Given the description of an element on the screen output the (x, y) to click on. 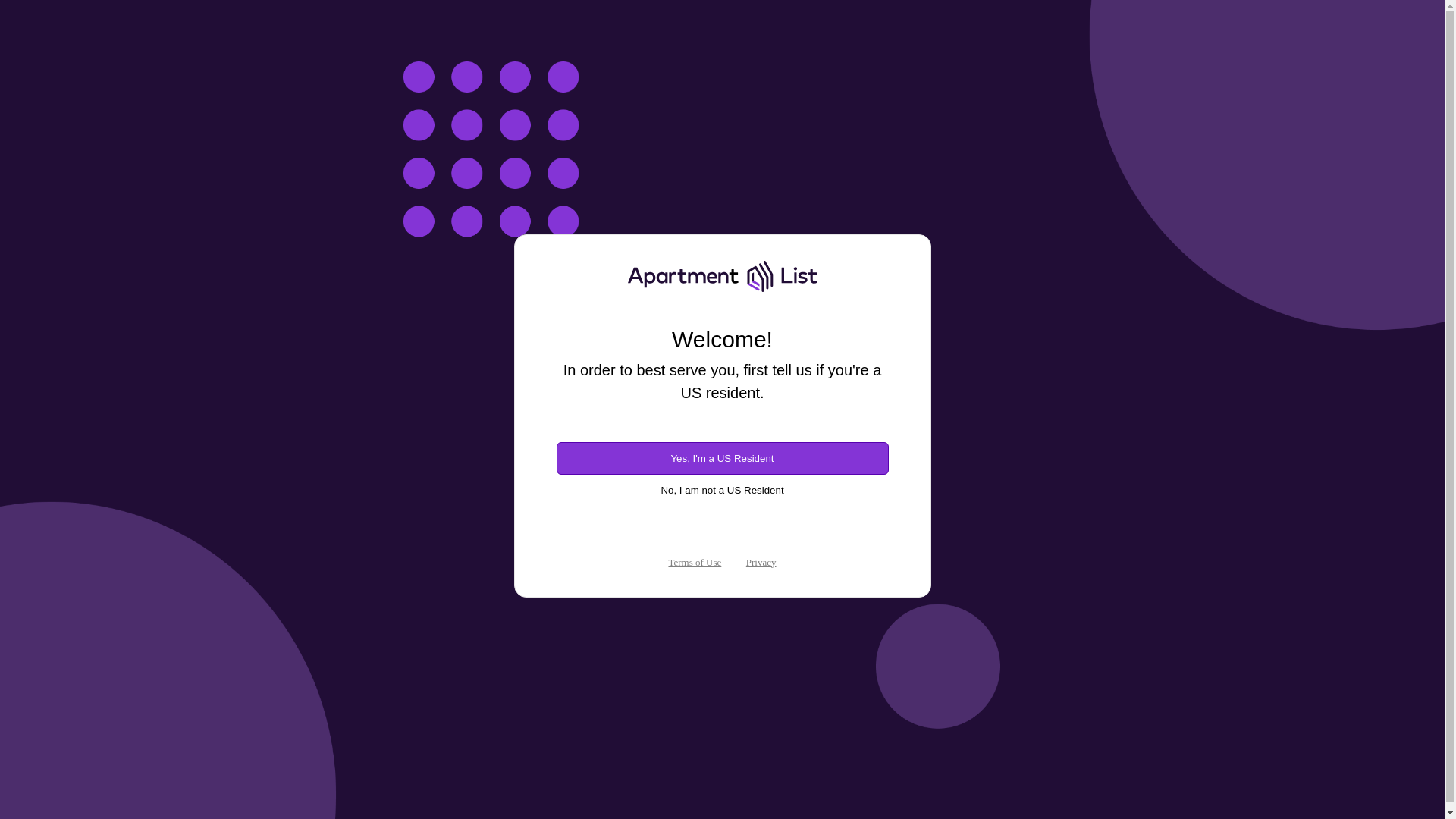
Terms of Use (694, 562)
Privacy (760, 562)
No, I am not a US Resident (722, 490)
Yes, I'm a US Resident (722, 457)
